Given the description of an element on the screen output the (x, y) to click on. 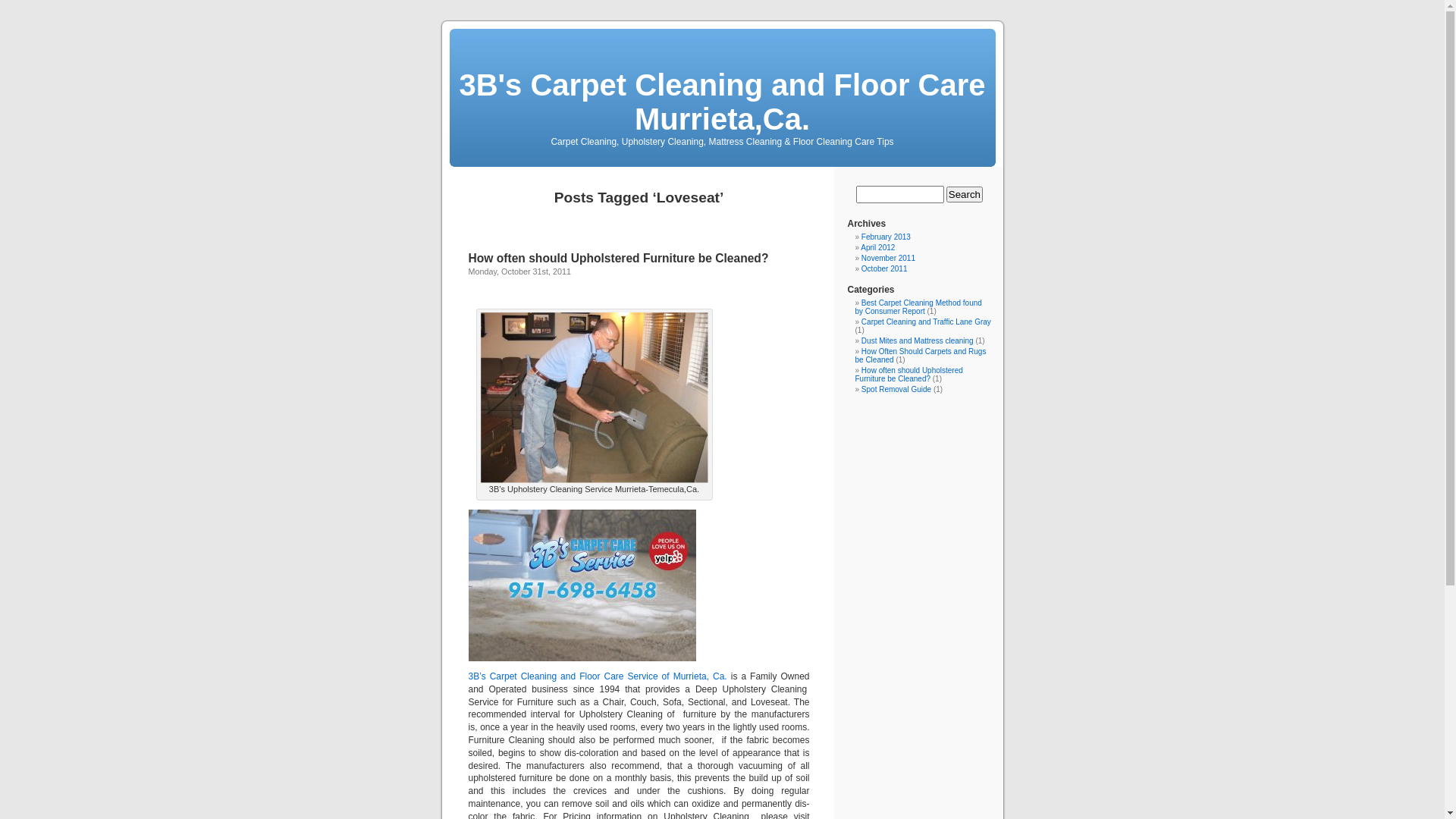
How often should Upholstered Furniture be Cleaned? Element type: text (618, 257)
How Often Should Carpets and Rugs be Cleaned Element type: text (920, 355)
How often should Upholstered Furniture be Cleaned? Element type: text (909, 374)
October 2011 Element type: text (884, 268)
April 2012 Element type: text (877, 247)
February 2013 Element type: text (885, 236)
Best Carpet Cleaning Method found by Consumer Report Element type: text (918, 306)
Dust Mites and Mattress cleaning Element type: text (917, 340)
3B's Carpet Cleaning and Floor Care Murrieta,Ca. Element type: text (721, 101)
November 2011 Element type: text (888, 258)
Spot Removal Guide Element type: text (896, 389)
Carpet Cleaning and Traffic Lane Gray Element type: text (926, 321)
Search Element type: text (964, 194)
